Given the description of an element on the screen output the (x, y) to click on. 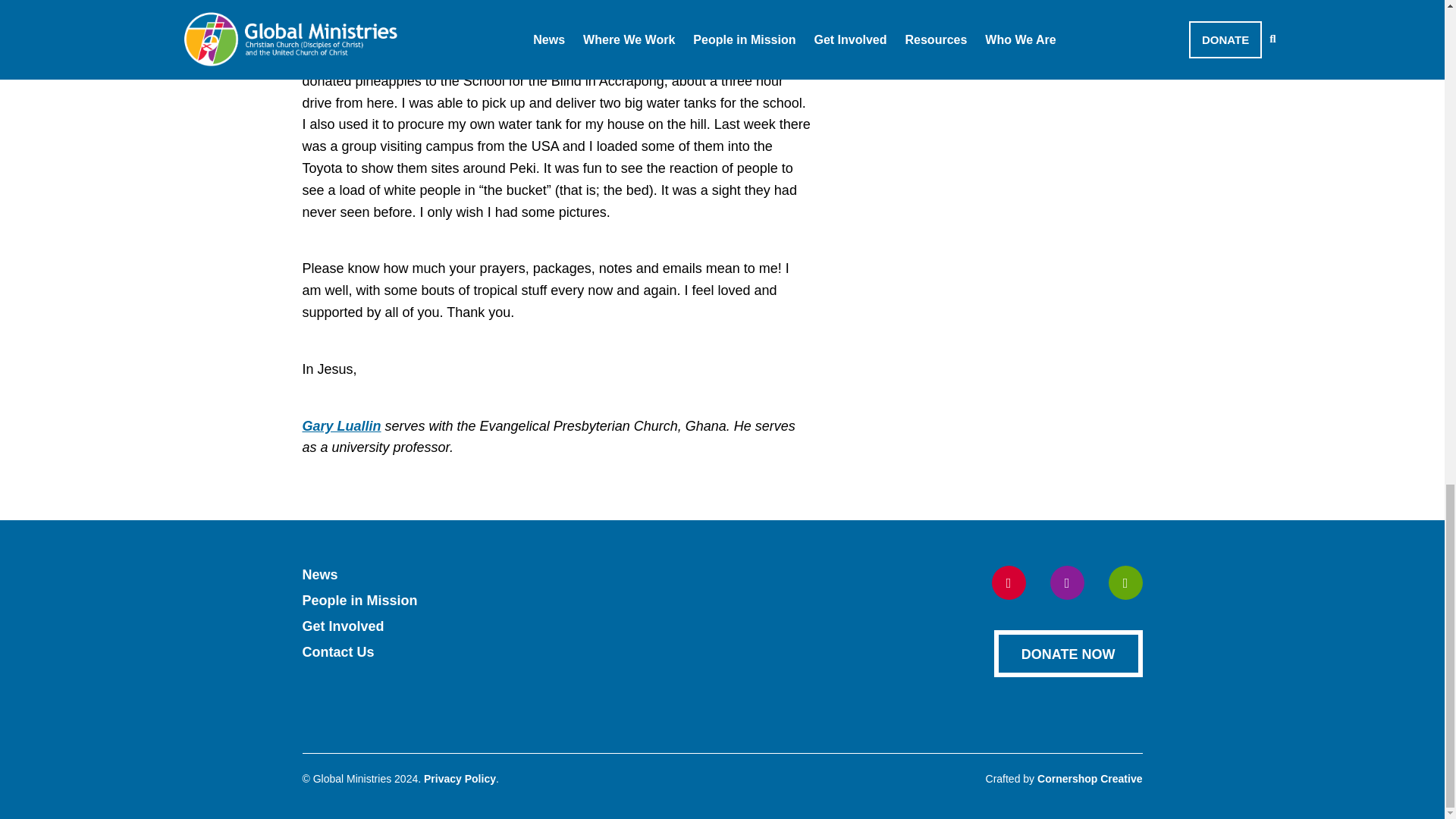
Follow us on Facebook (1008, 582)
Follow us on Vimeo (1125, 582)
Follow us on Twitter (1066, 582)
